Given the description of an element on the screen output the (x, y) to click on. 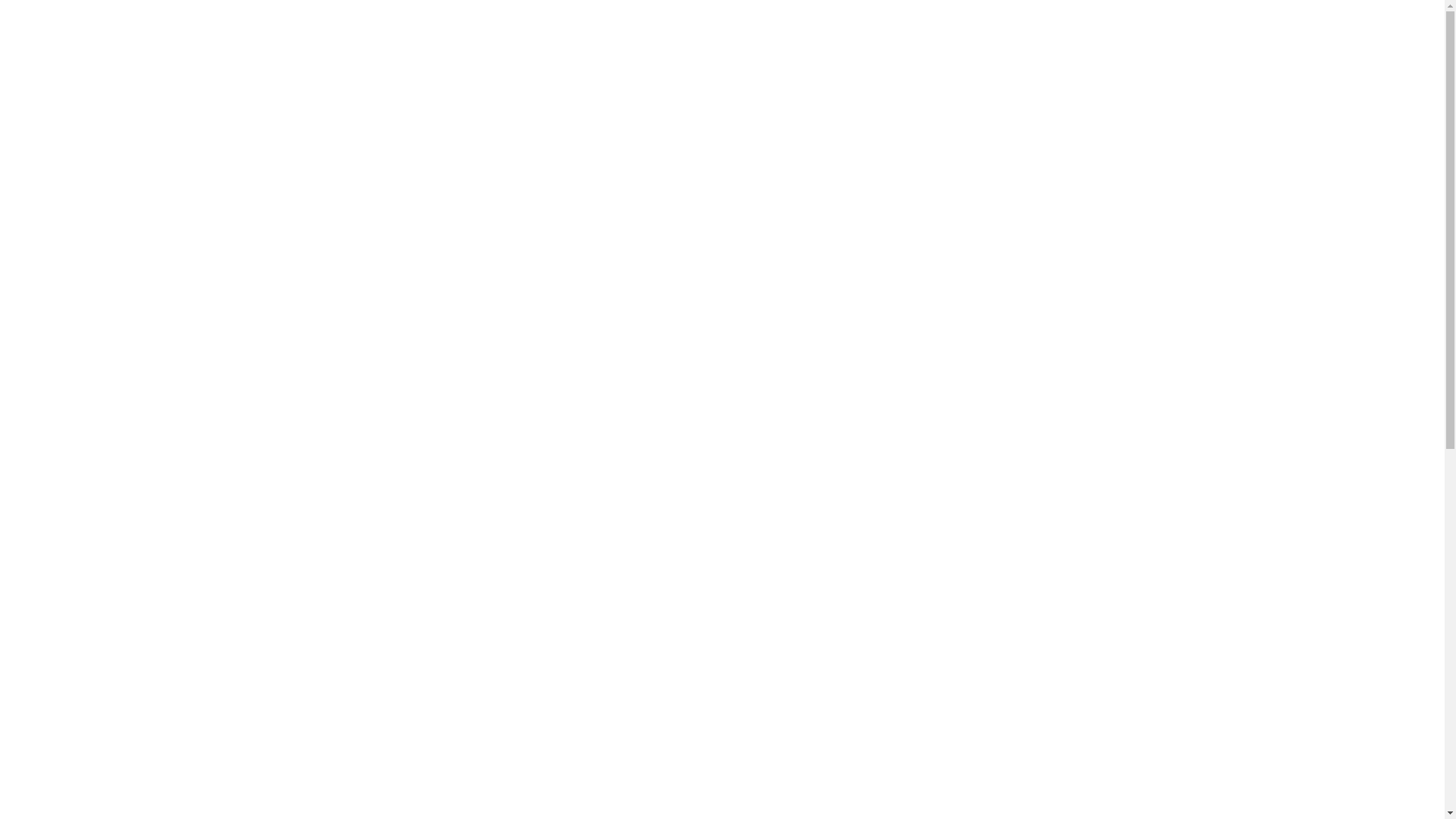
PRO Element type: text (375, 144)
English Element type: hover (1122, 14)
Viber Element type: hover (949, 387)
Euroeco Cosmopolitan E Powerbox Element type: hover (806, 243)
LinkedIn Element type: hover (906, 387)
Grohe Element type: hover (338, 68)
WhatsApp Element type: hover (928, 387)
Euroeco Cosmopolitan E Powerbox Element type: hover (459, 243)
+994 (99) 333-2440 Element type: text (340, 14)
Telegram Element type: hover (991, 387)
Euroeco Cosmopolitan E Powerbox Element type: text (487, 144)
Skype Element type: hover (970, 387)
Russian Element type: hover (1144, 14)
info@grohepro.az Element type: text (457, 14)
HAQQIMIZDA Element type: text (586, 59)
Twitter Element type: hover (885, 387)
KATALOQ Element type: text (666, 59)
